Given the description of an element on the screen output the (x, y) to click on. 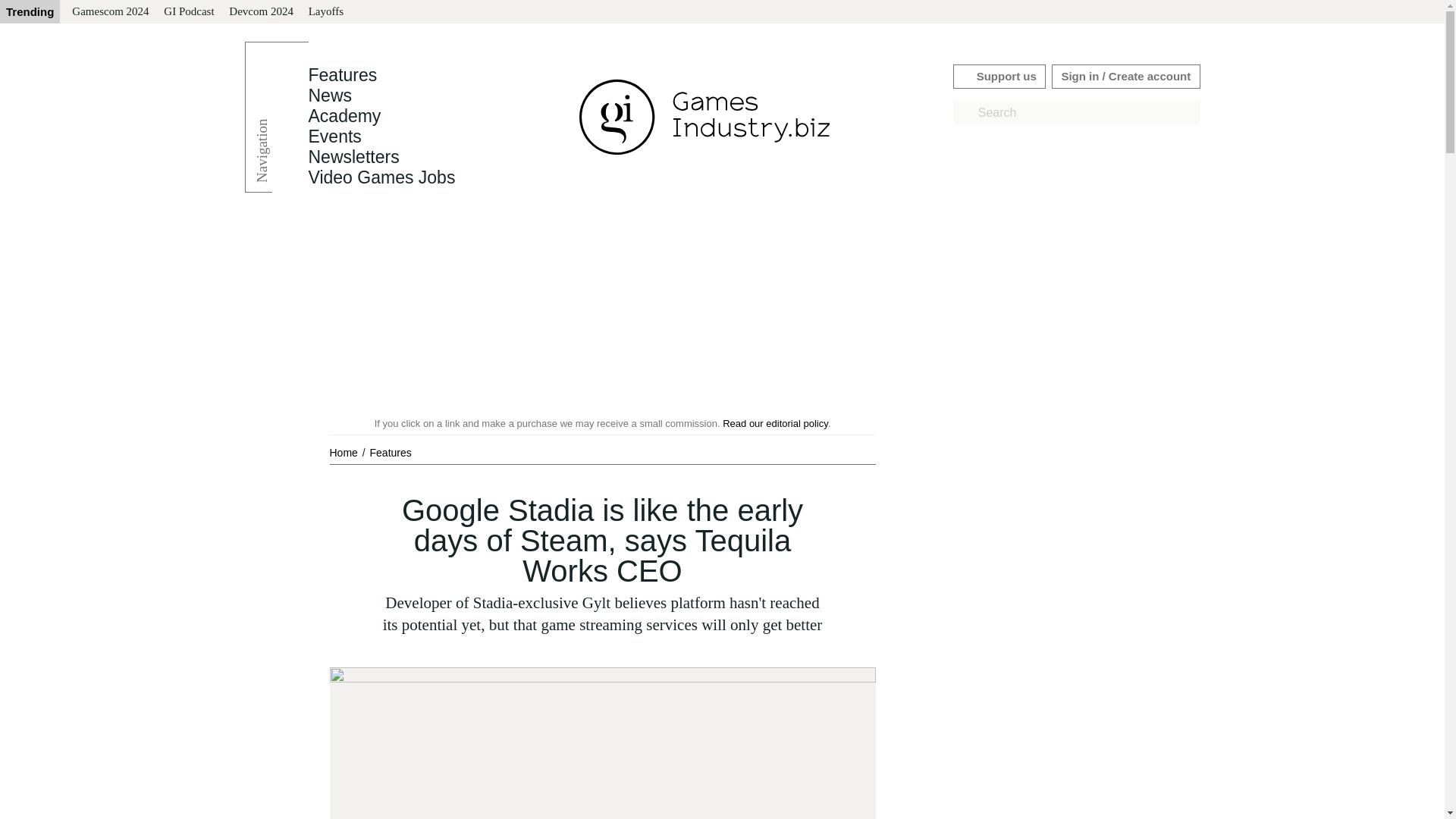
Home (344, 452)
Devcom 2024 (260, 11)
Newsletters (352, 157)
Features (390, 452)
Support us (999, 75)
News (329, 95)
News (329, 95)
Gamescom 2024 (109, 11)
Video Games Jobs (380, 177)
Layoffs (325, 11)
